Given the description of an element on the screen output the (x, y) to click on. 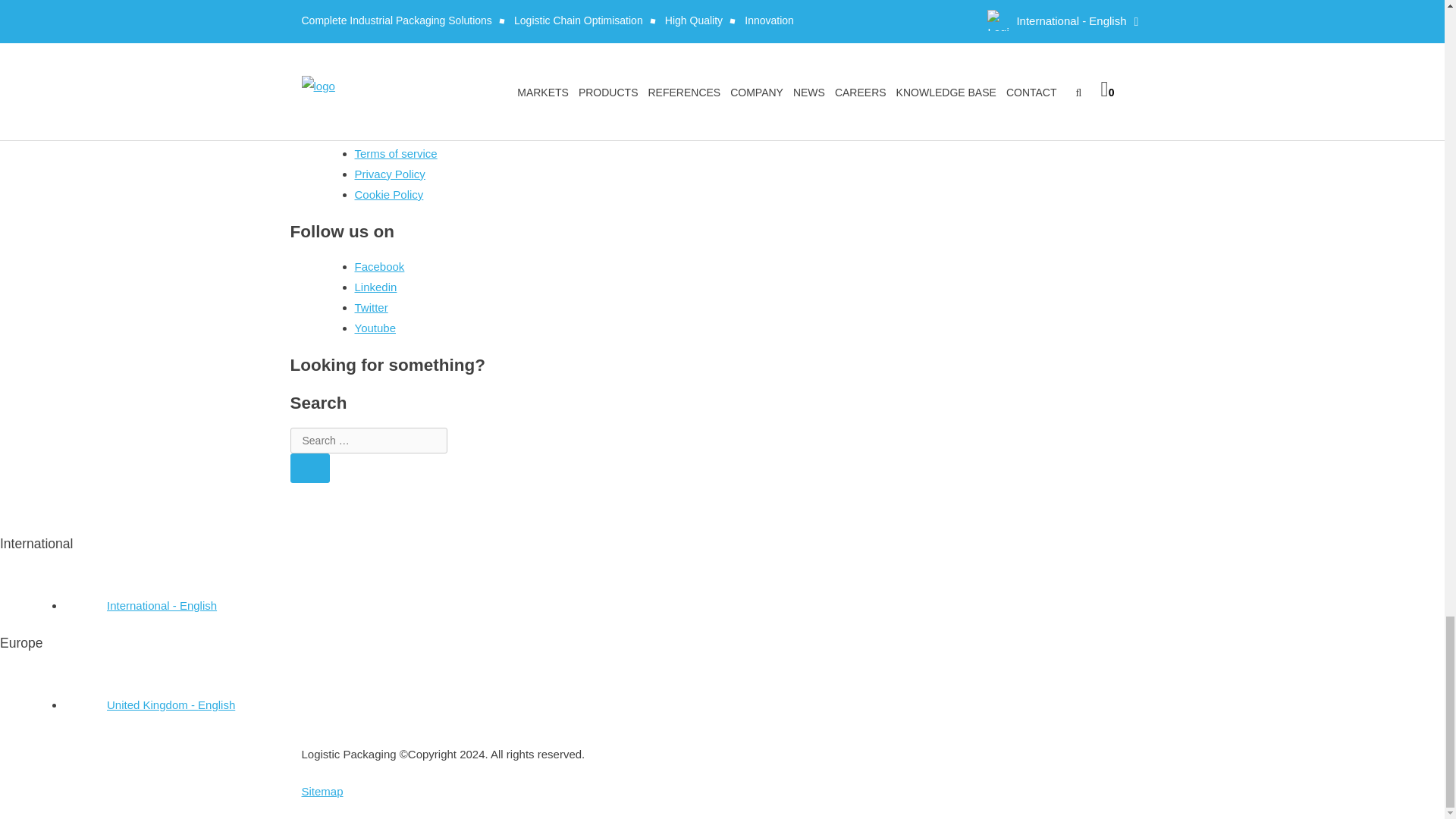
General Terms and Conditions for Business (464, 94)
About us (376, 12)
Environment safety (403, 74)
Become a partner (400, 33)
Catalogues (383, 53)
Our mission (384, 115)
